Given the description of an element on the screen output the (x, y) to click on. 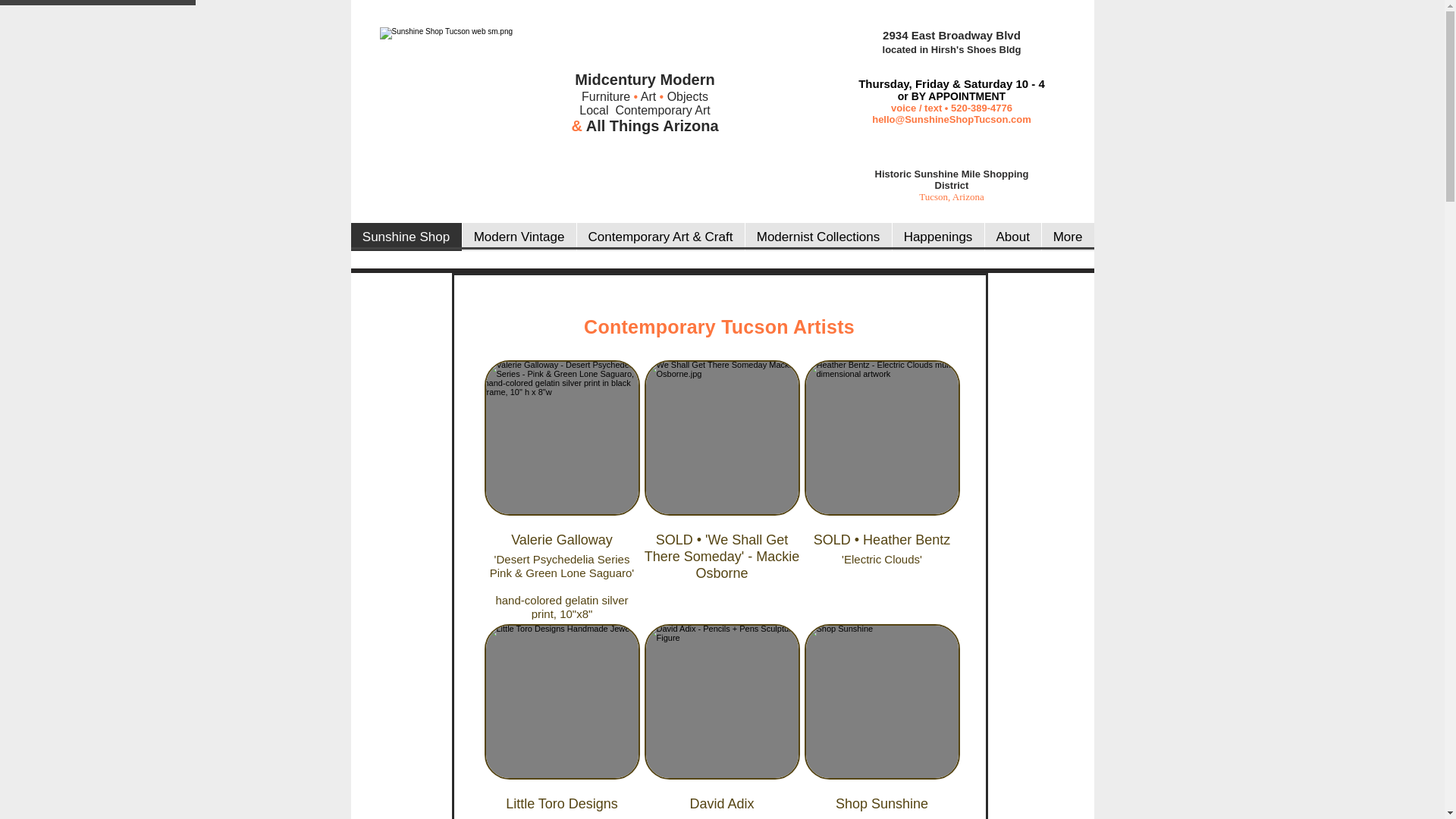
Happenings (937, 236)
Modernist Collections (817, 236)
About (1012, 236)
Modern Vintage (518, 236)
Sunshine Shop (405, 236)
